Given the description of an element on the screen output the (x, y) to click on. 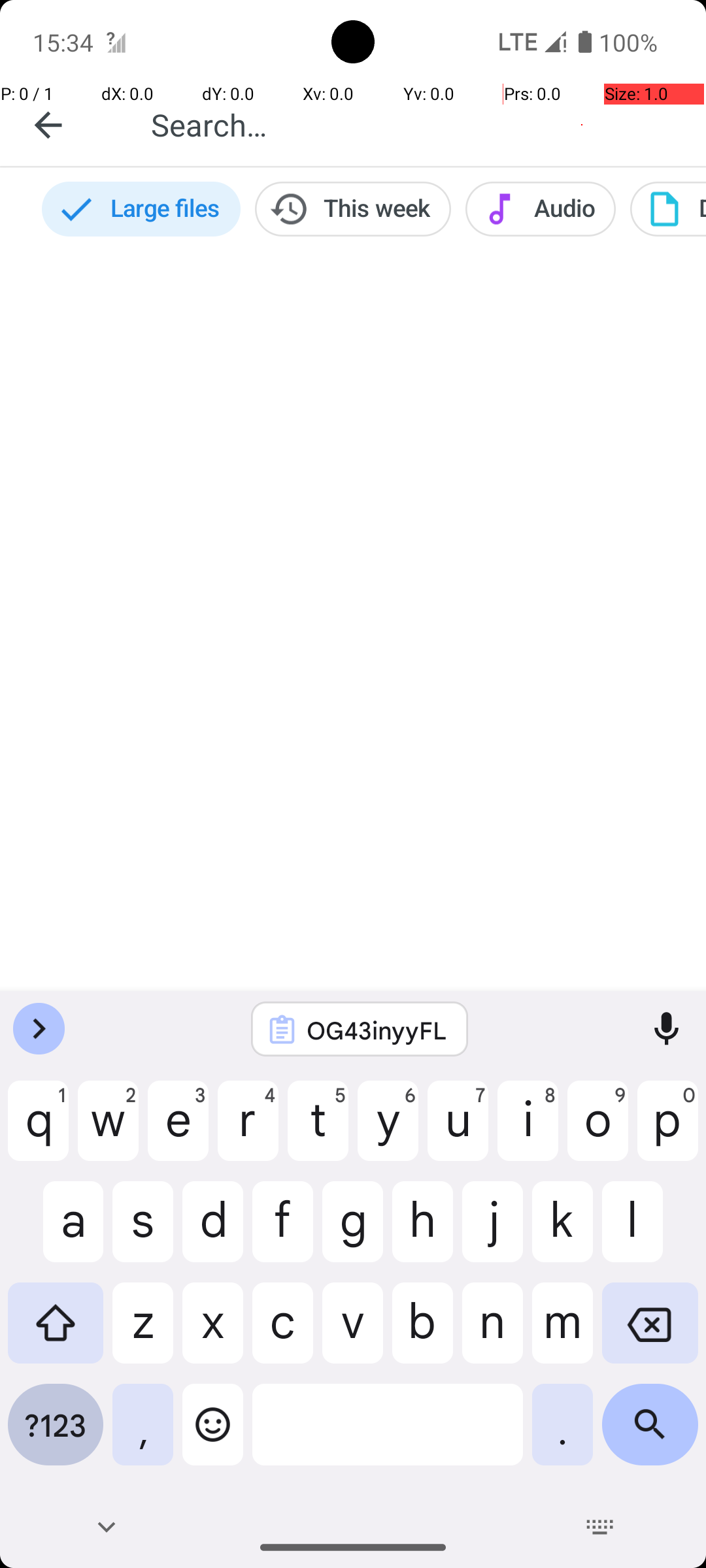
OG43inyyFL Element type: android.widget.TextView (376, 1029)
